Given the description of an element on the screen output the (x, y) to click on. 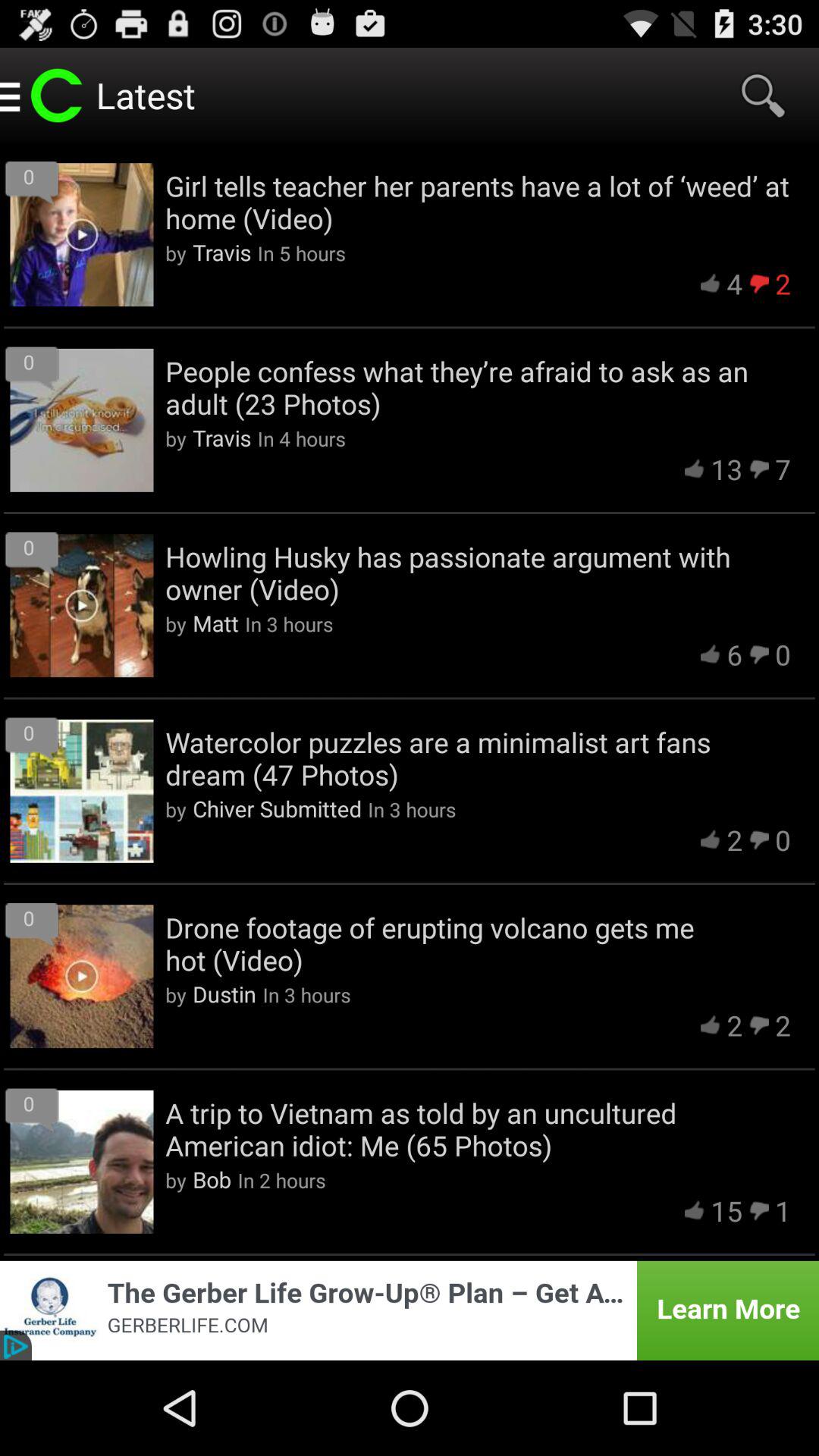
view the advertisement (409, 1310)
